Given the description of an element on the screen output the (x, y) to click on. 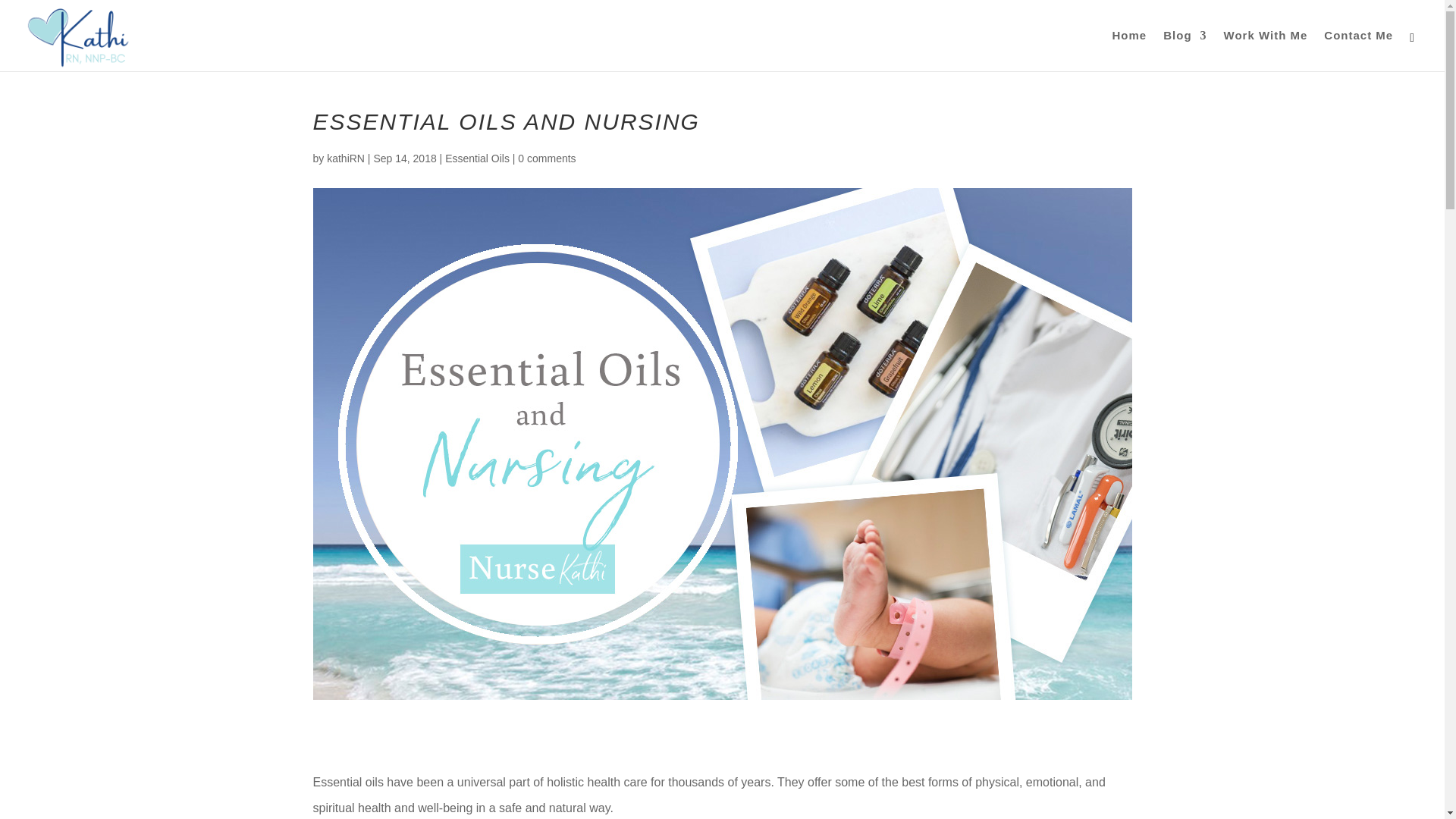
Work With Me (1265, 50)
Contact Me (1358, 50)
Essential Oils (477, 158)
Blog (1185, 50)
Posts by kathiRN (345, 158)
0 comments (546, 158)
kathiRN (345, 158)
